Given the description of an element on the screen output the (x, y) to click on. 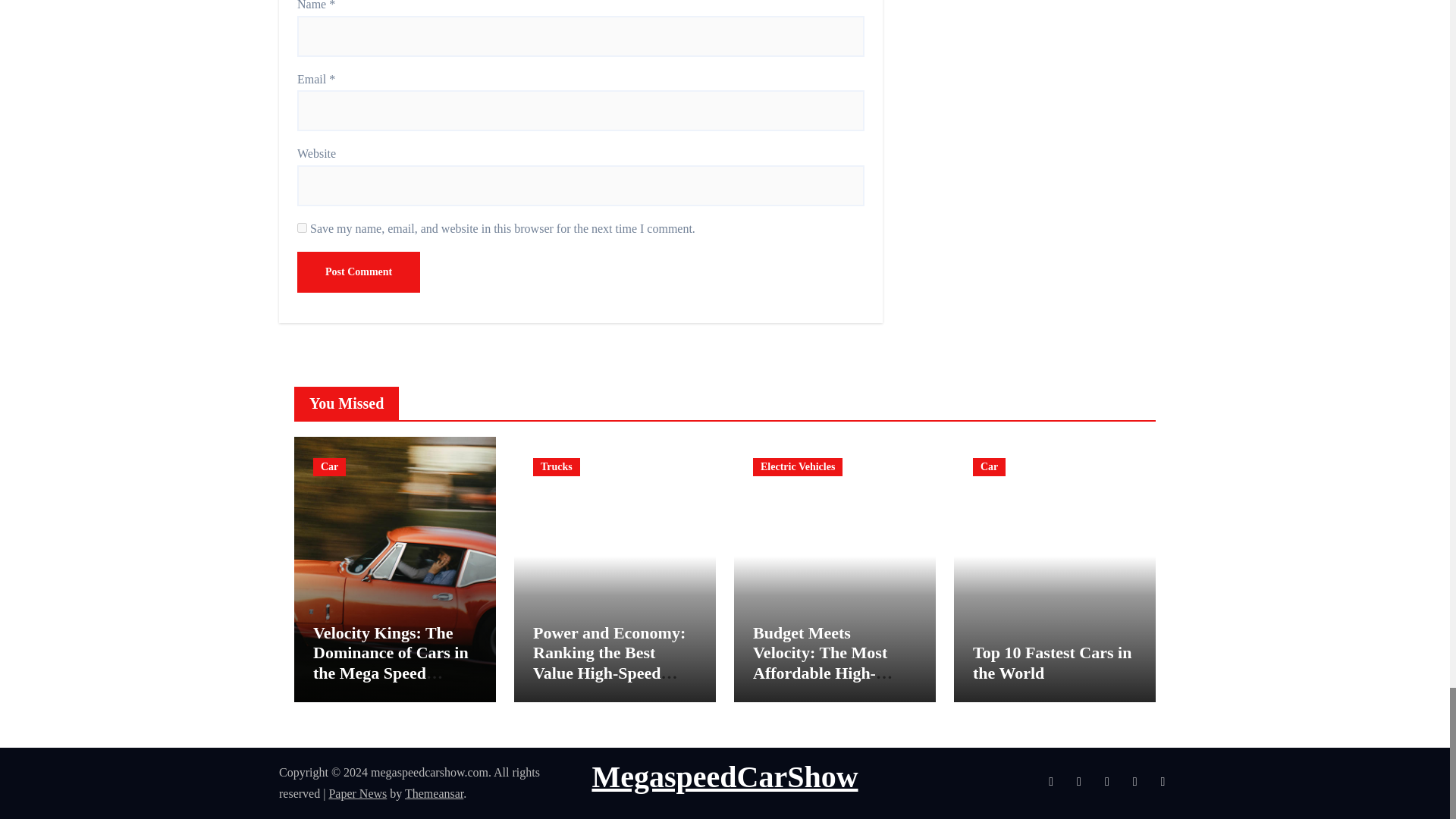
Post Comment (358, 271)
Post Comment (358, 271)
yes (302, 227)
Permalink to: Top 10 Fastest Cars in the World (1051, 661)
